Given the description of an element on the screen output the (x, y) to click on. 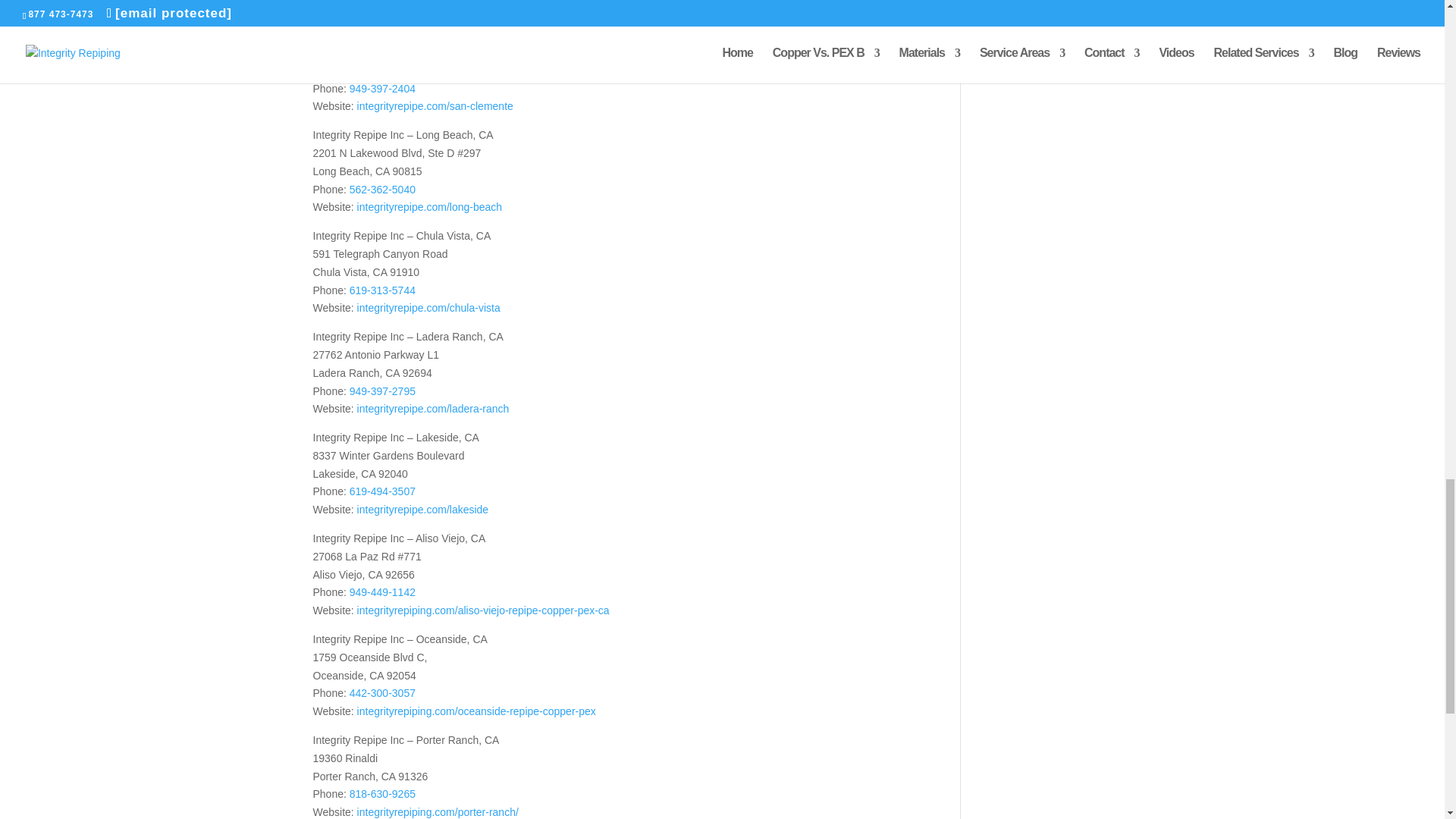
562-362-5040 (381, 189)
949-397-2404 (381, 88)
integrityrepipe.com (401, 5)
